Given the description of an element on the screen output the (x, y) to click on. 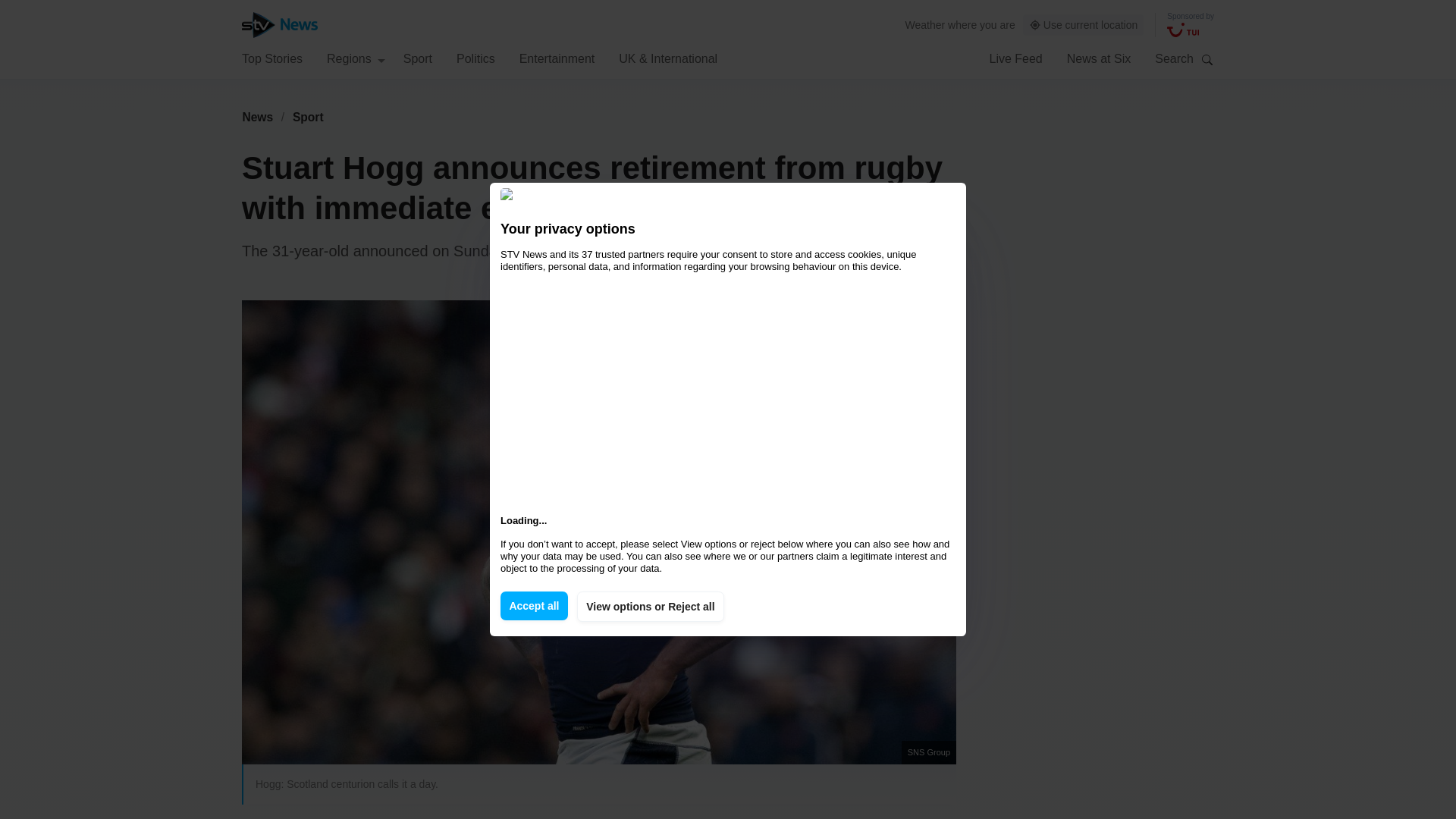
Top Stories (271, 57)
News at Six (1099, 57)
Regions (355, 57)
Live Feed (1015, 57)
Search (1206, 59)
Weather (924, 24)
Sport (308, 116)
Entertainment (557, 57)
Use current location (1083, 25)
Politics (476, 57)
News (257, 116)
